Given the description of an element on the screen output the (x, y) to click on. 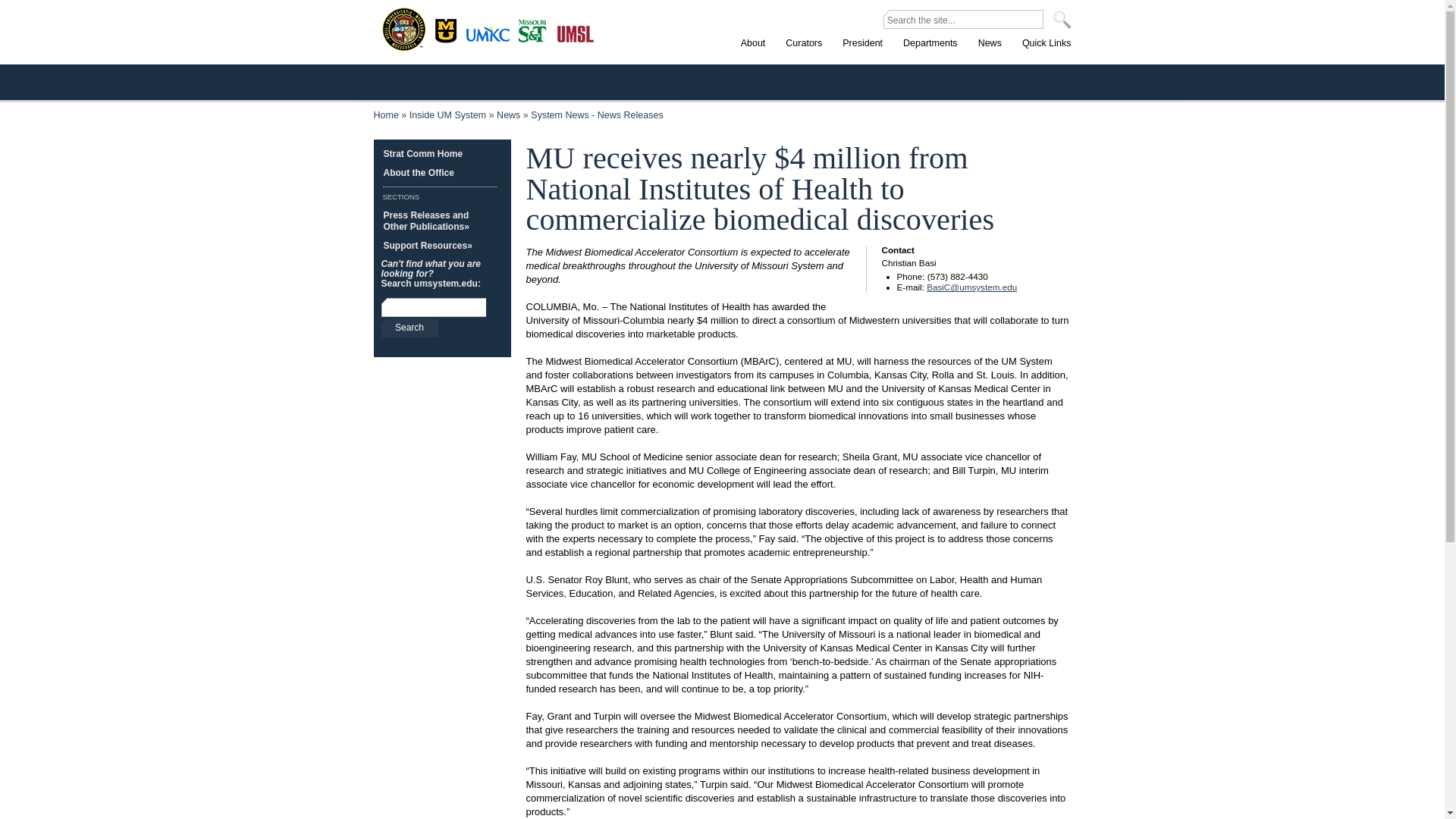
Enter your search criteria (432, 308)
Curators (803, 56)
St. Louis (575, 34)
Rolla (534, 31)
President (861, 56)
text (967, 19)
Kansas City (490, 40)
Search umsystem.edu (409, 327)
Columbia (447, 31)
Search (409, 327)
About (753, 56)
Departments (930, 56)
